Given the description of an element on the screen output the (x, y) to click on. 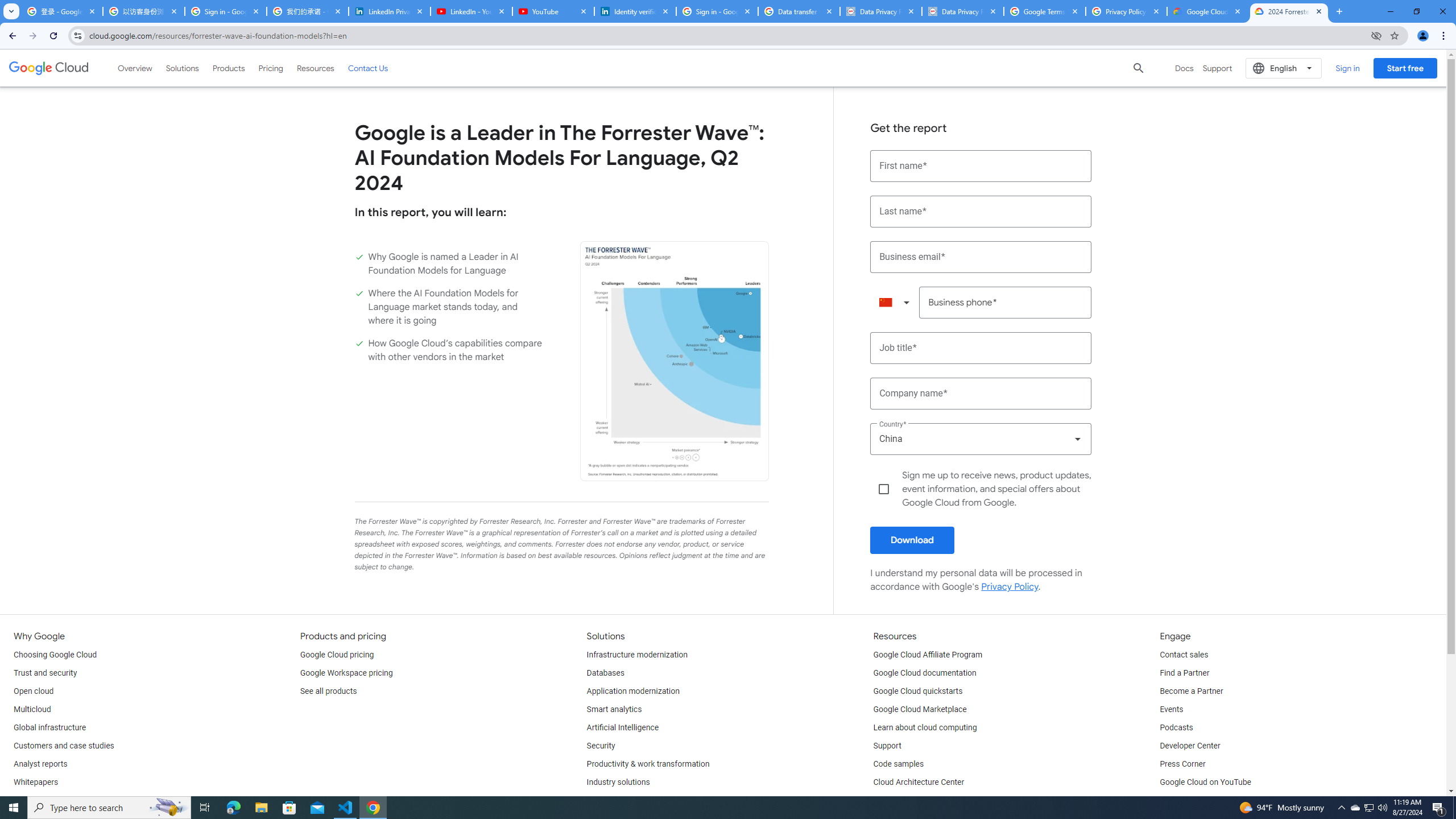
Blog (21, 800)
Data Privacy Framework (880, 11)
Open cloud (33, 691)
Trust and security (45, 673)
Google Cloud on YouTube (1204, 782)
Events (1170, 710)
Google Cloud quickstarts (917, 691)
